Given the description of an element on the screen output the (x, y) to click on. 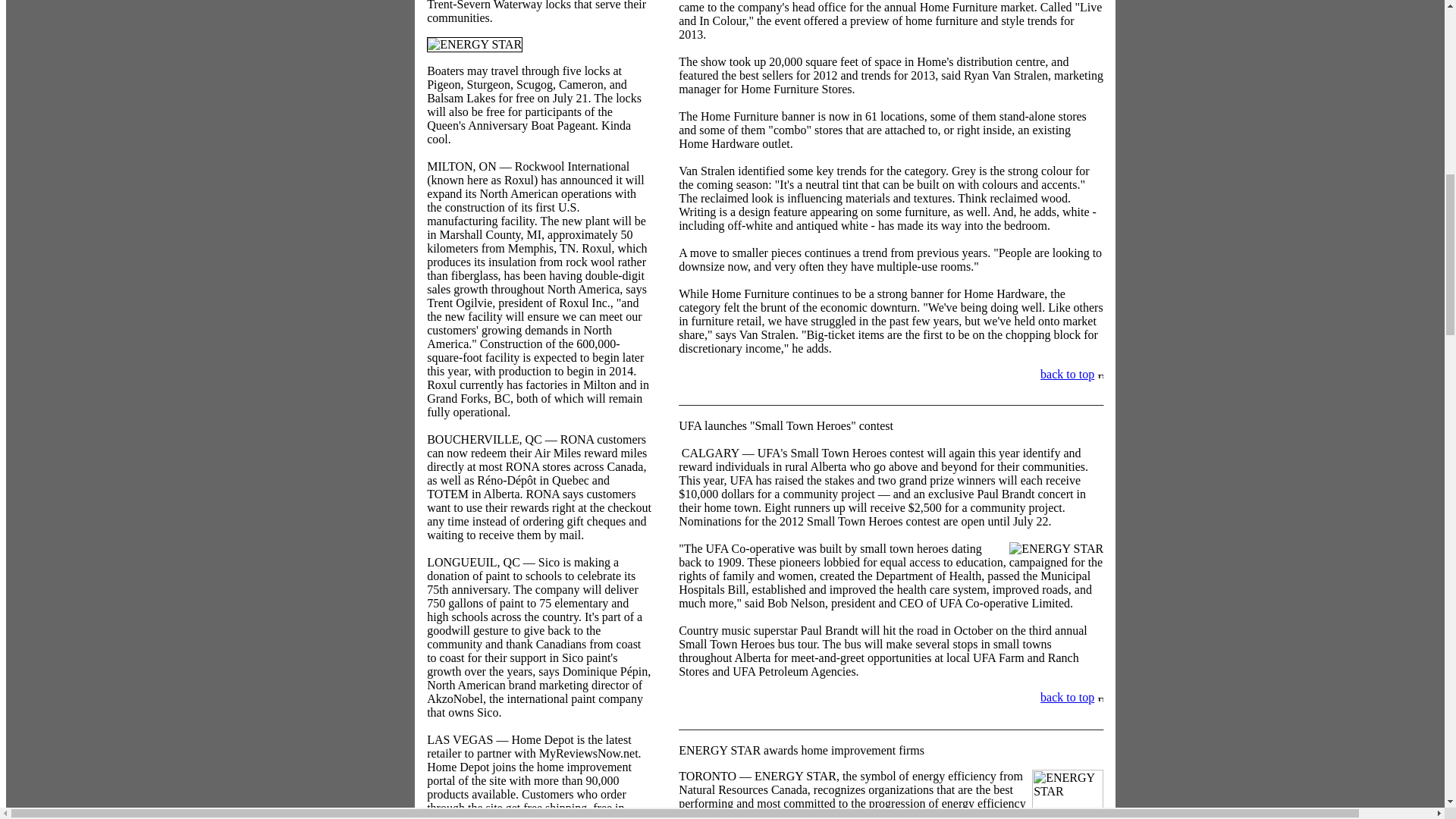
back to top (1067, 373)
back to top (1067, 697)
